Given the description of an element on the screen output the (x, y) to click on. 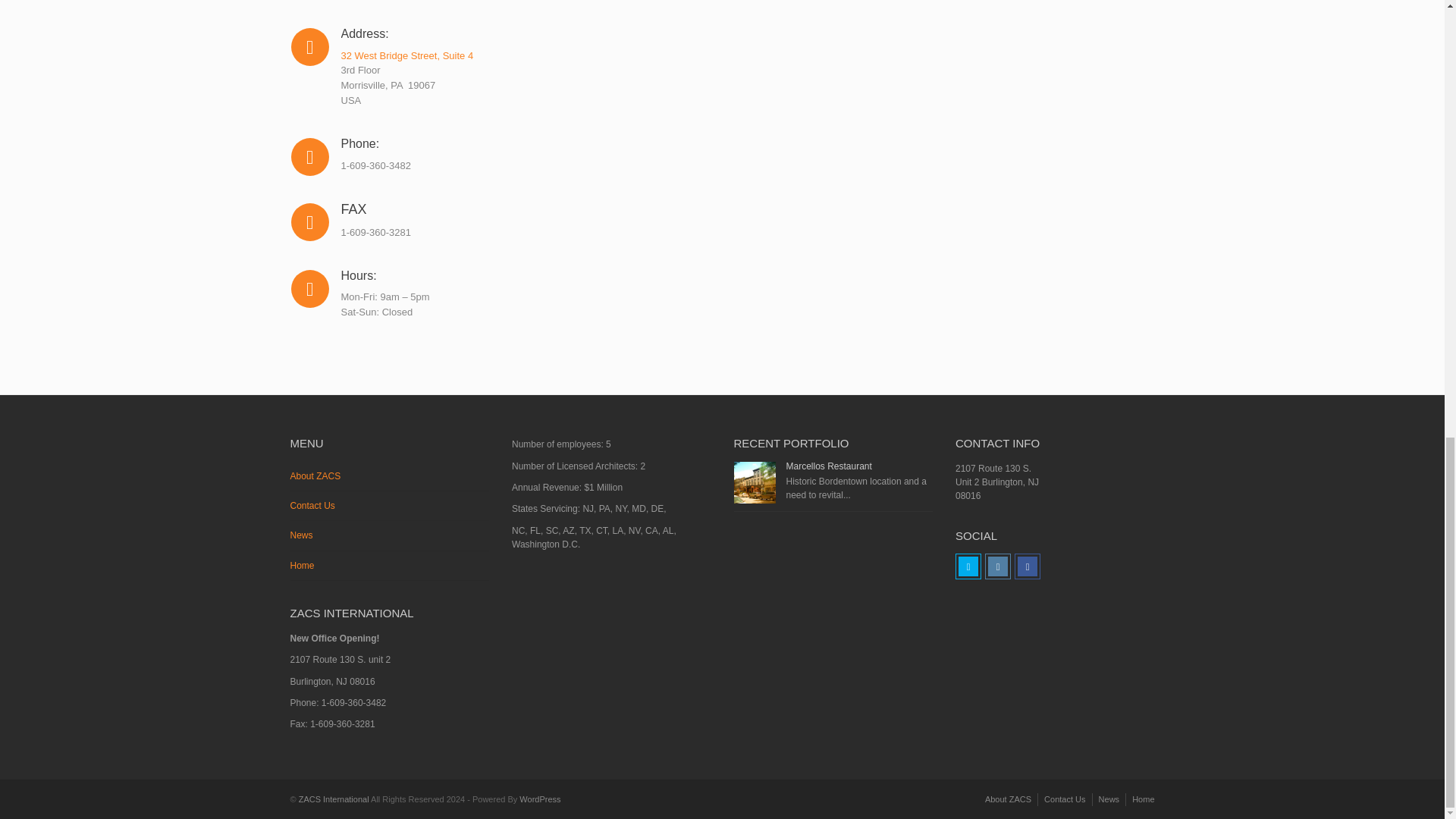
News (389, 535)
News (1109, 798)
Home (1143, 798)
ZACS International (333, 798)
Marcellos Restaurant (828, 466)
Home (389, 565)
Contact Us (389, 505)
WordPress (539, 798)
About ZACS (1007, 798)
About ZACS (389, 476)
